Given the description of an element on the screen output the (x, y) to click on. 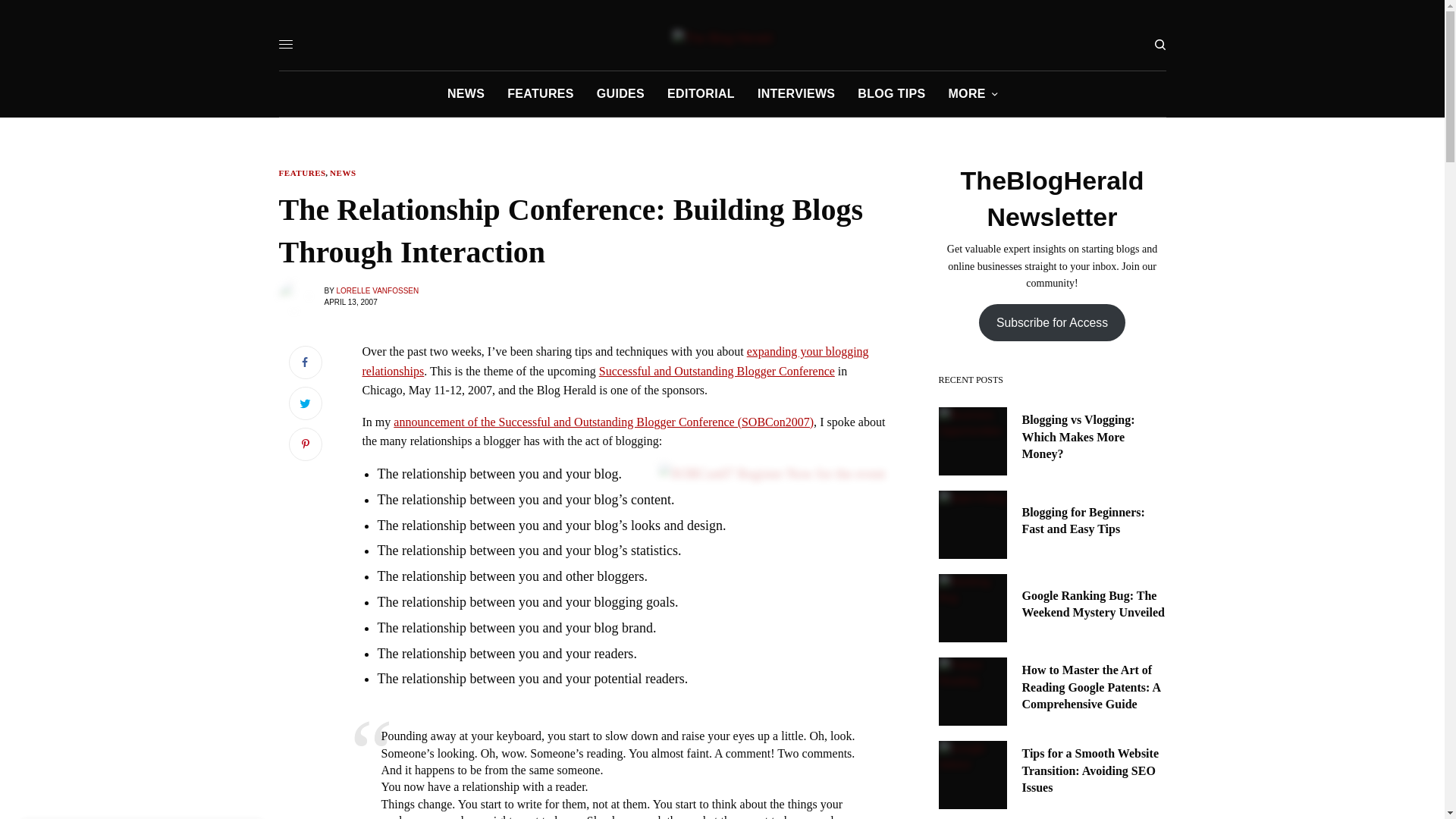
INTERVIEWS (795, 94)
The Blog Herald (722, 38)
Reaching Out (615, 360)
Successful and Outstanding Blogger Conference (716, 370)
LORELLE VANFOSSEN (377, 290)
EDITORIAL (700, 94)
NEWS (343, 172)
expanding your blogging relationships (615, 360)
FEATURES (539, 94)
GUIDES (620, 94)
Posts by Lorelle VanFossen (377, 290)
FEATURES (302, 172)
BLOG TIPS (890, 94)
